Given the description of an element on the screen output the (x, y) to click on. 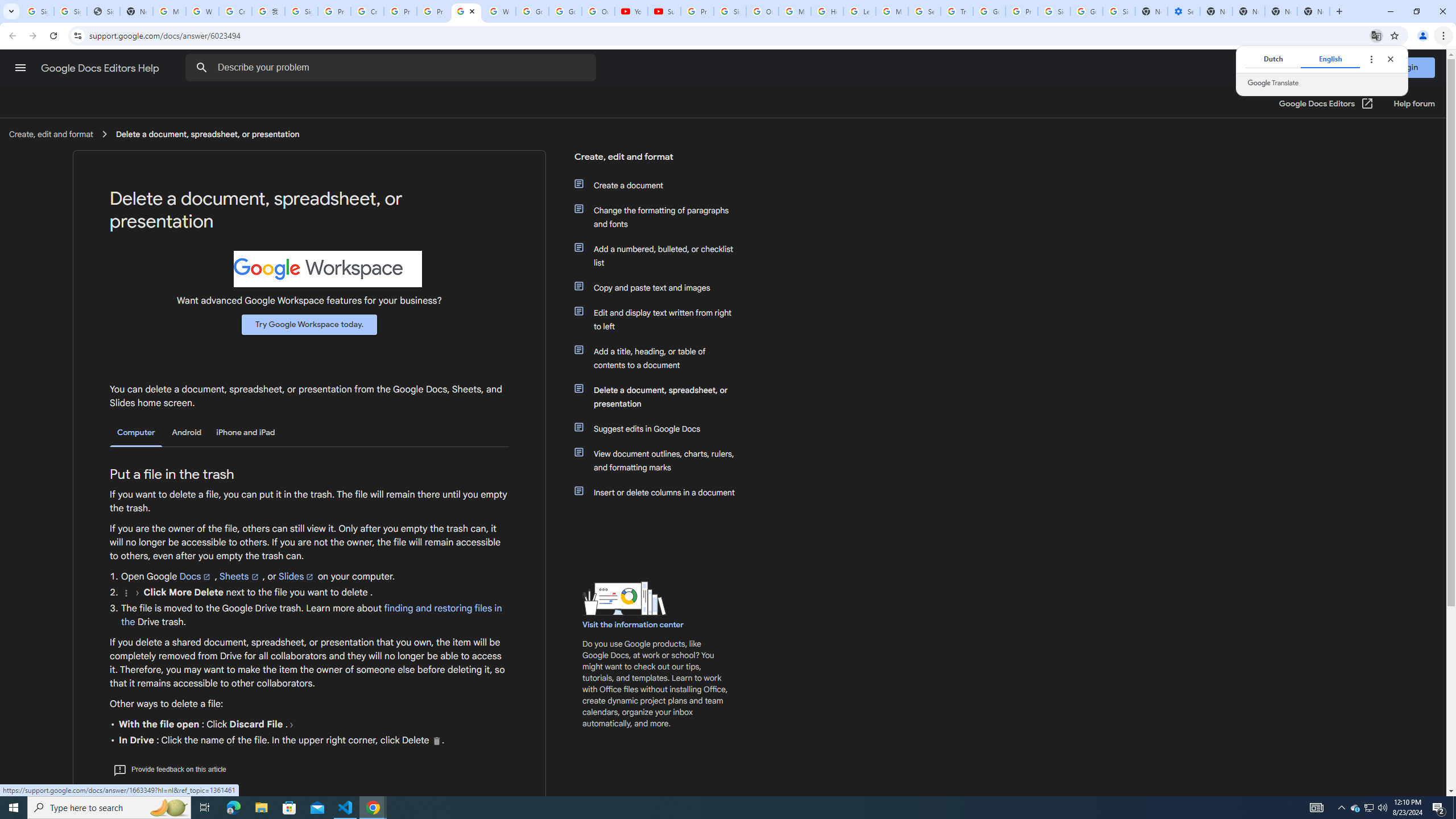
YouTube (631, 11)
Google Account (564, 11)
Login (1407, 67)
Subscriptions - YouTube (663, 11)
Add a title, heading, or table of contents to a document (661, 358)
View document outlines, charts, rulers, and formatting marks (661, 460)
Android (186, 432)
Slides (296, 576)
Provide feedback on this article (169, 769)
